Given the description of an element on the screen output the (x, y) to click on. 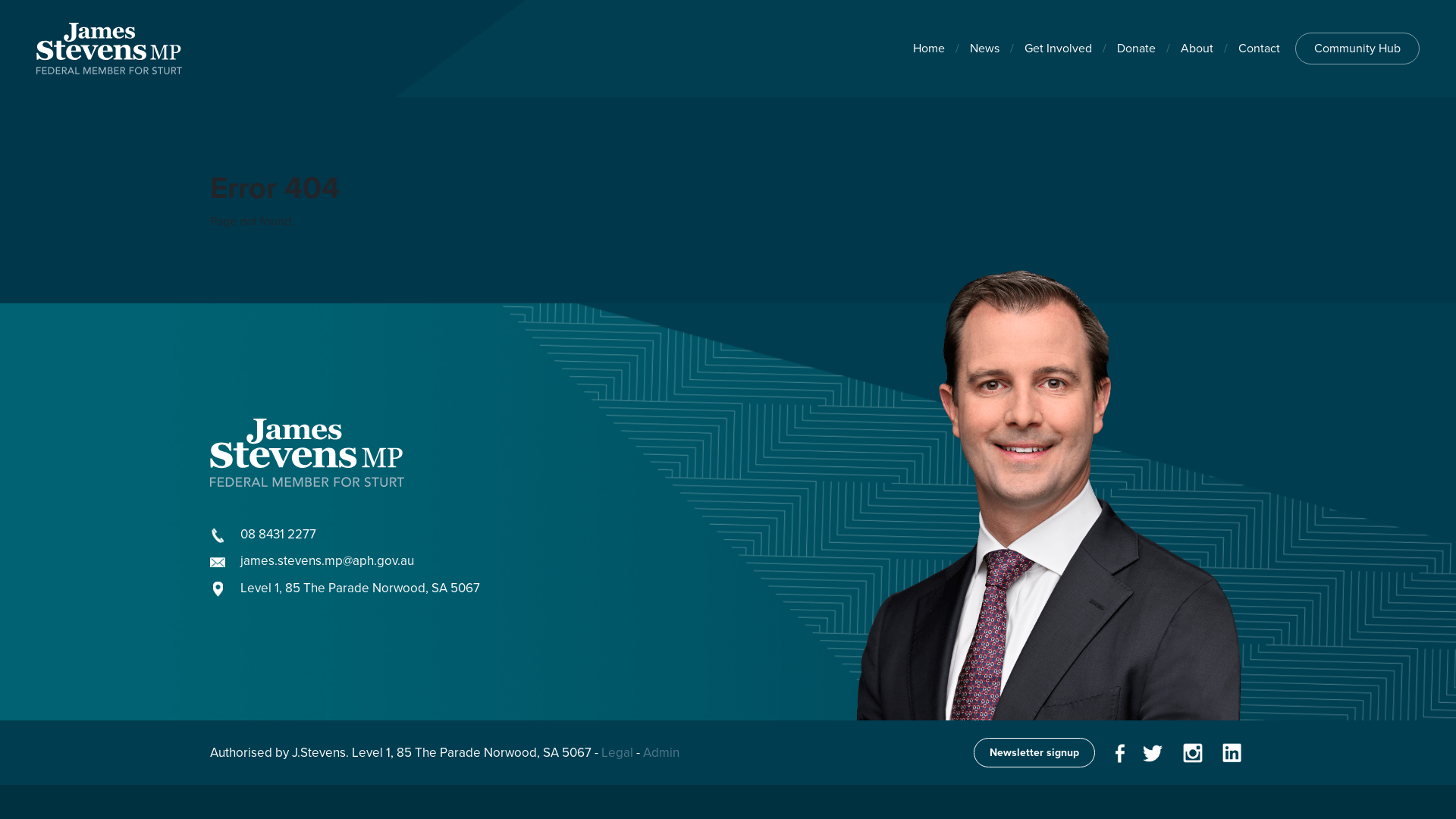
Home Element type: text (928, 48)
Legal Element type: text (617, 752)
08 8431 2277 Element type: text (278, 533)
Donate Element type: text (1136, 48)
News Element type: text (984, 48)
Get Involved Element type: text (1057, 48)
Newsletter signup Element type: text (1034, 752)
Community Hub Element type: text (1357, 48)
james.stevens.mp@aph.gov.au Element type: text (327, 560)
Contact Element type: text (1258, 48)
About Element type: text (1196, 48)
Admin Element type: text (661, 752)
Level 1, 85 The Parade Norwood, SA 5067 Element type: text (360, 587)
